Given the description of an element on the screen output the (x, y) to click on. 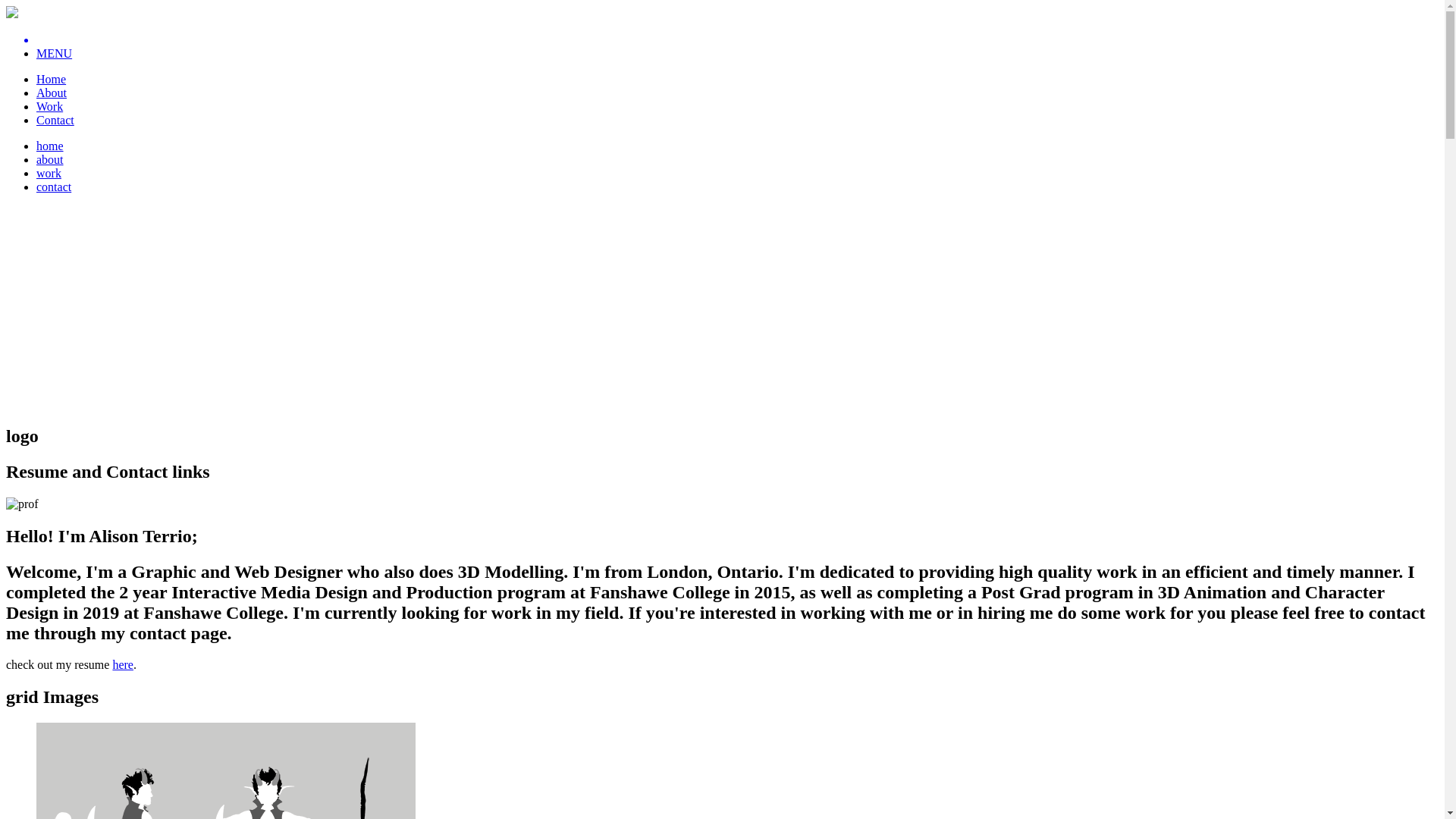
work Element type: text (48, 172)
Work Element type: text (49, 106)
here Element type: text (122, 664)
about Element type: text (49, 159)
Home Element type: text (50, 78)
MENU Element type: text (54, 53)
About Element type: text (51, 92)
home Element type: text (49, 145)
Contact Element type: text (55, 119)
contact Element type: text (53, 186)
